Given the description of an element on the screen output the (x, y) to click on. 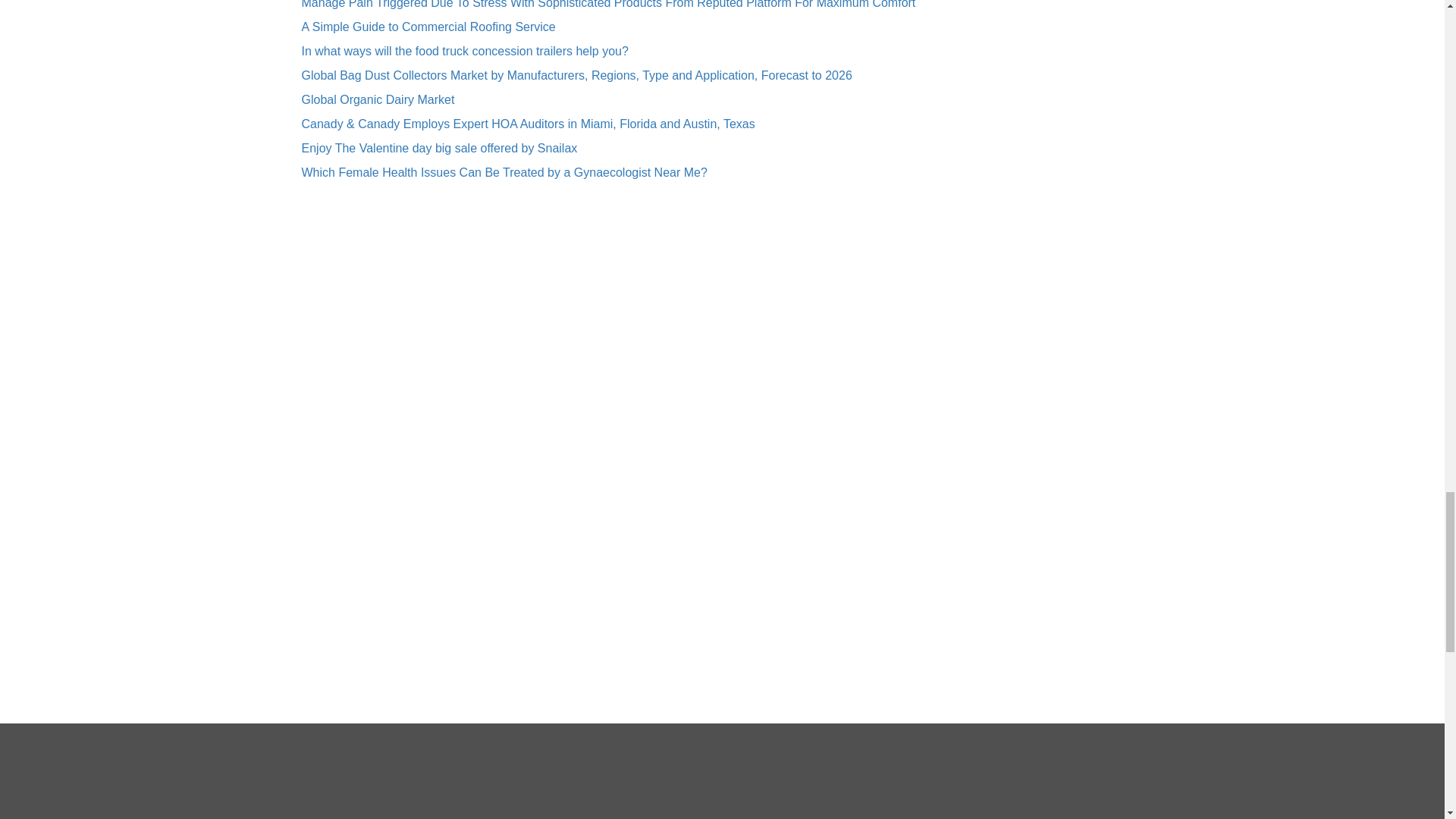
Enjoy The Valentine day big sale offered by Snailax (439, 147)
Advertisement (614, 324)
Advertisement (721, 771)
A Simple Guide to Commercial Roofing Service (428, 26)
Global Organic Dairy Market (377, 99)
